Given the description of an element on the screen output the (x, y) to click on. 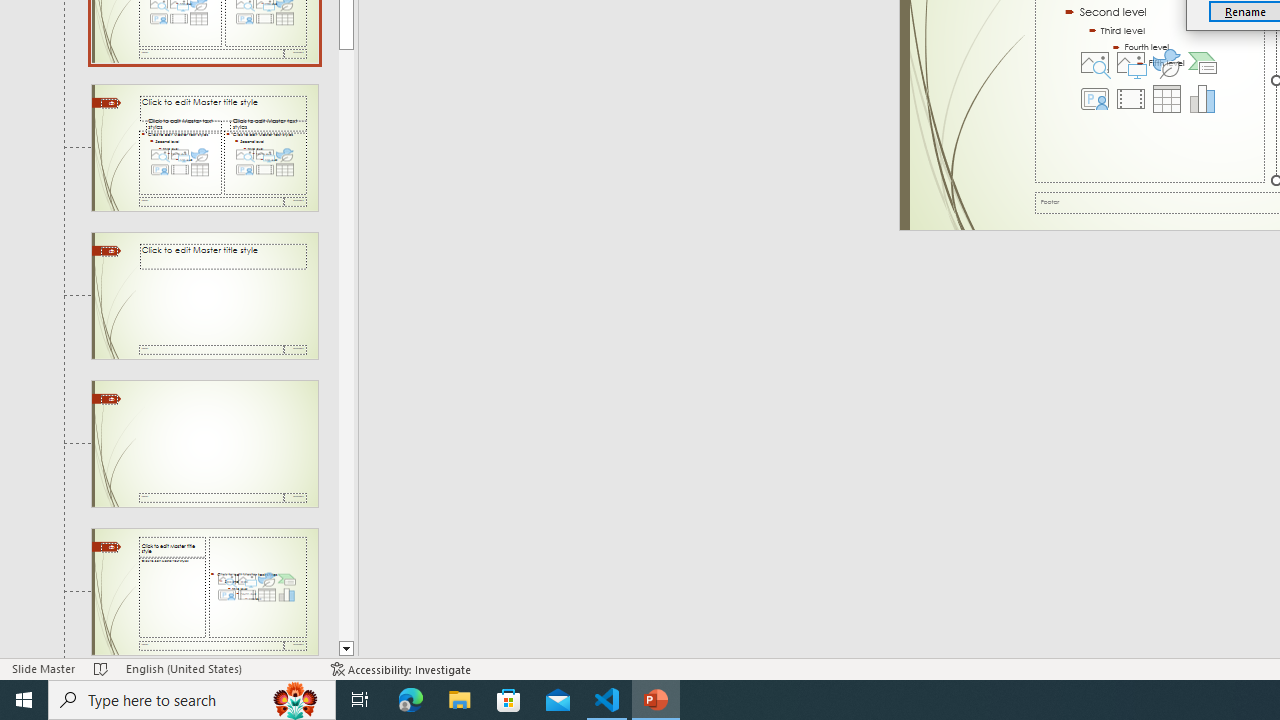
Insert a SmartArt Graphic (1202, 62)
Pictures (1130, 62)
Slide Blank Layout: used by no slides (204, 592)
Microsoft Edge (411, 699)
Slide Title Only Layout: used by no slides (204, 443)
Insert Video (1130, 98)
